Given the description of an element on the screen output the (x, y) to click on. 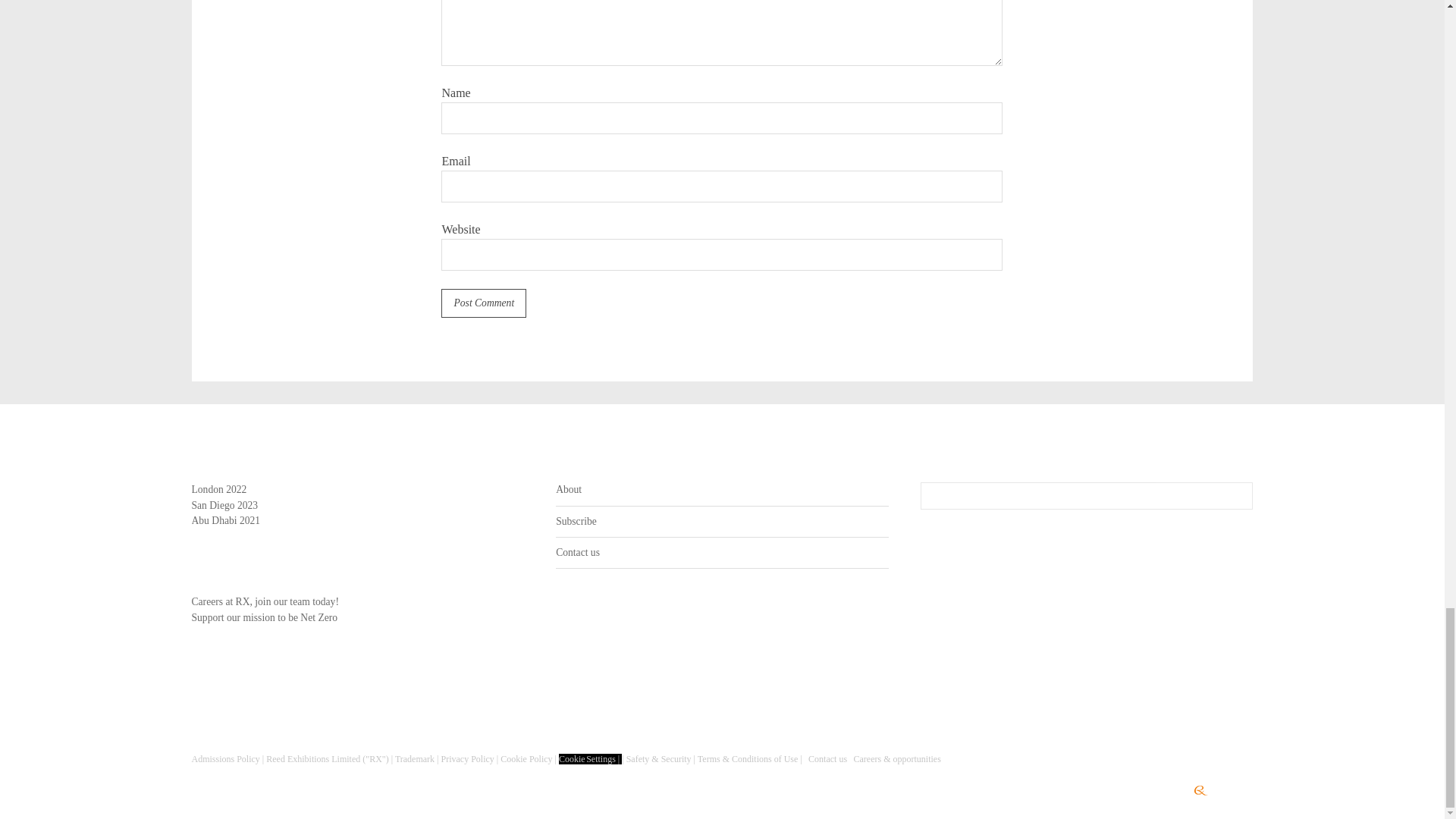
Post Comment (483, 303)
Abu Dhabi 2021 (225, 520)
San Diego 2023 (223, 505)
London 2022 (218, 489)
Post Comment (483, 303)
